Given the description of an element on the screen output the (x, y) to click on. 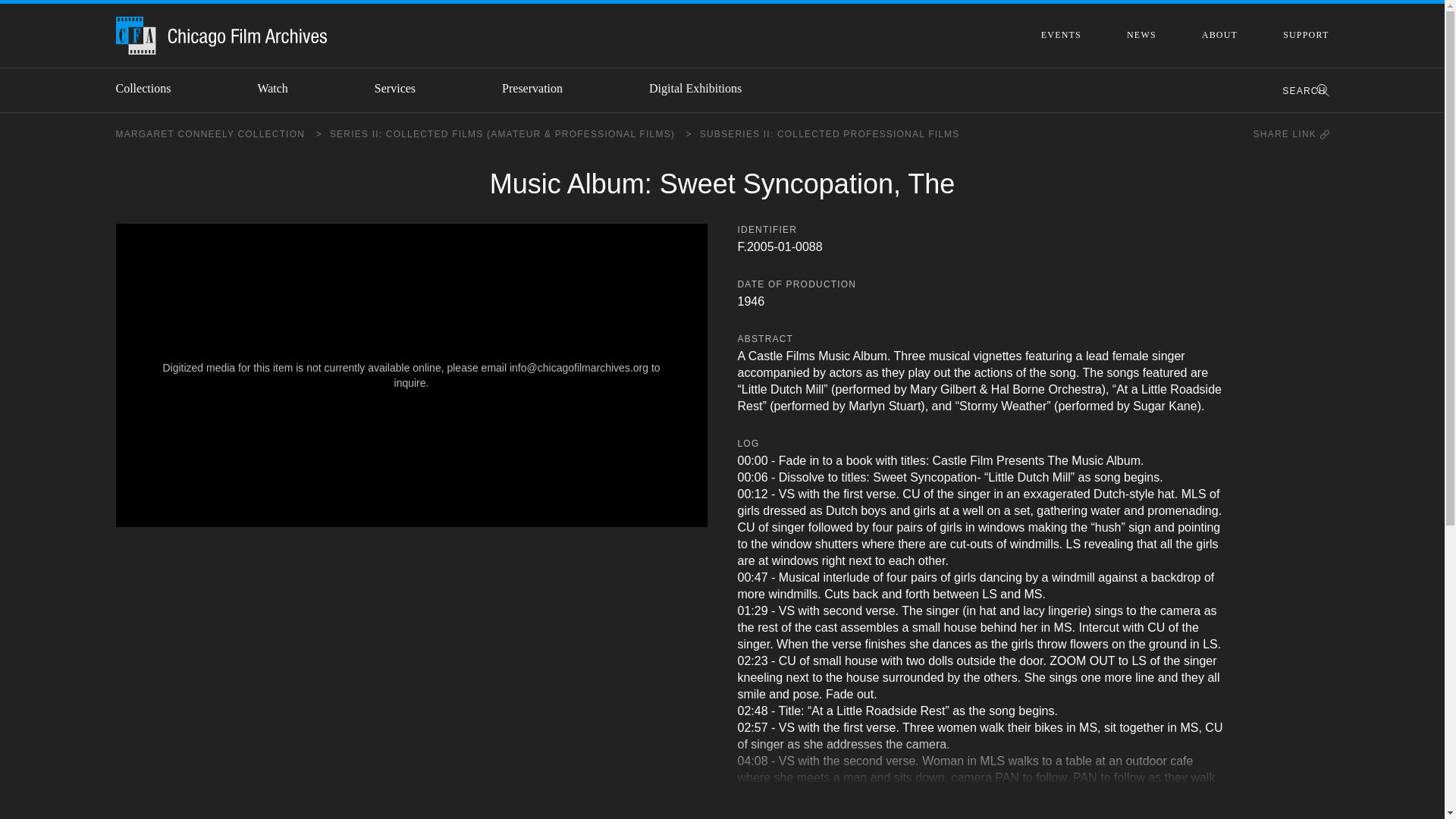
EVENTS (1061, 34)
SUPPORT (1304, 34)
SHARE LINK (1291, 133)
NEWS (1141, 34)
Services (407, 88)
Preservation (545, 88)
ABOUT (1219, 34)
Watch (285, 88)
Digital Exhibitions (708, 88)
Submit Search (1316, 90)
SUBSERIES II: COLLECTED PROFESSIONAL FILMS (829, 133)
Collections (155, 88)
